Given the description of an element on the screen output the (x, y) to click on. 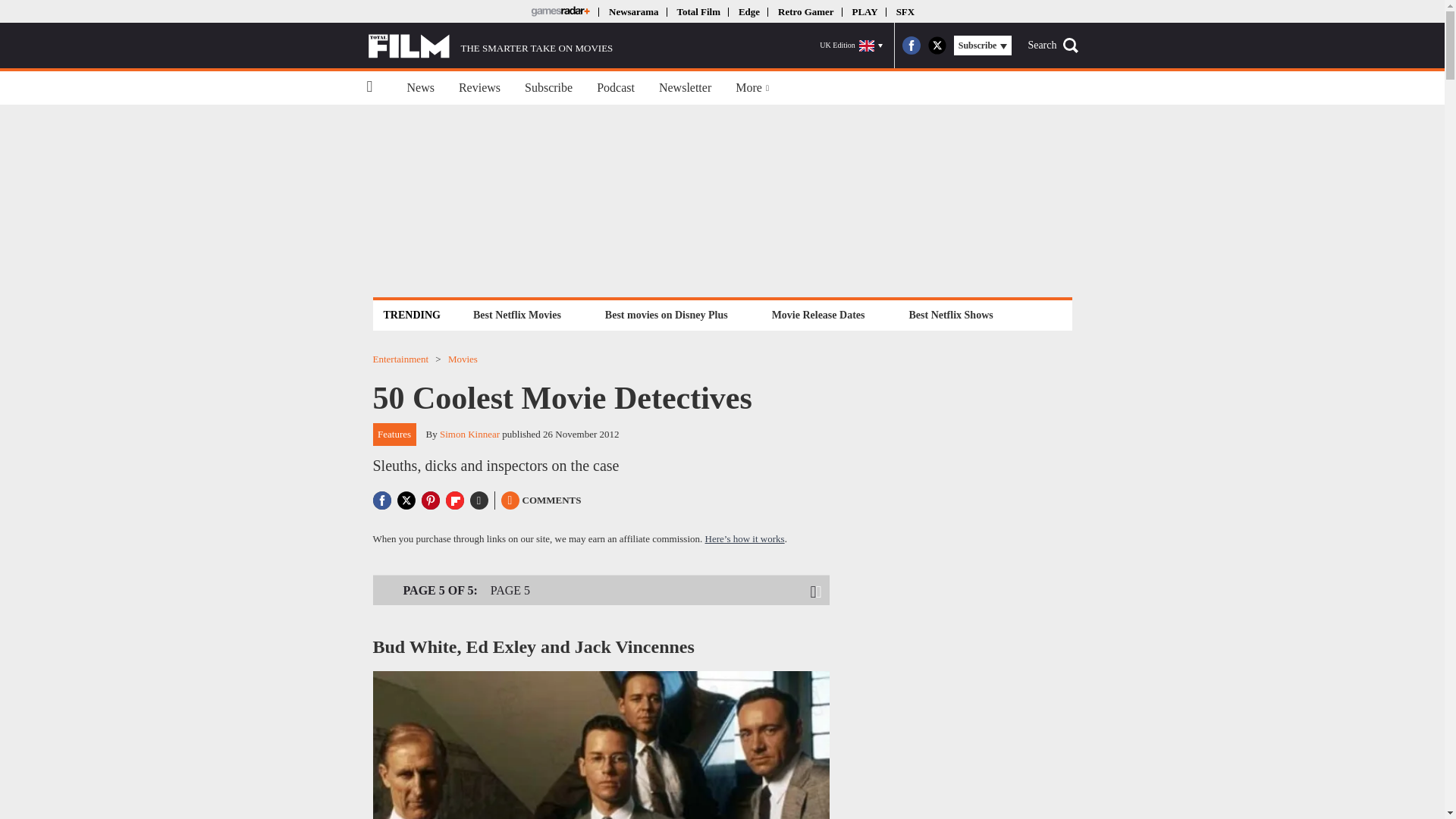
Newsletter (684, 87)
THE SMARTER TAKE ON MOVIES (489, 44)
UK Edition (850, 45)
Podcast (615, 87)
PLAY (864, 11)
News (419, 87)
Retro Gamer (805, 11)
Subscribe (548, 87)
Best Netflix Movies (516, 314)
Reviews (479, 87)
Edge (749, 11)
Total Film (698, 11)
Newsarama (633, 11)
Best movies on Disney Plus (666, 314)
SFX (905, 11)
